Given the description of an element on the screen output the (x, y) to click on. 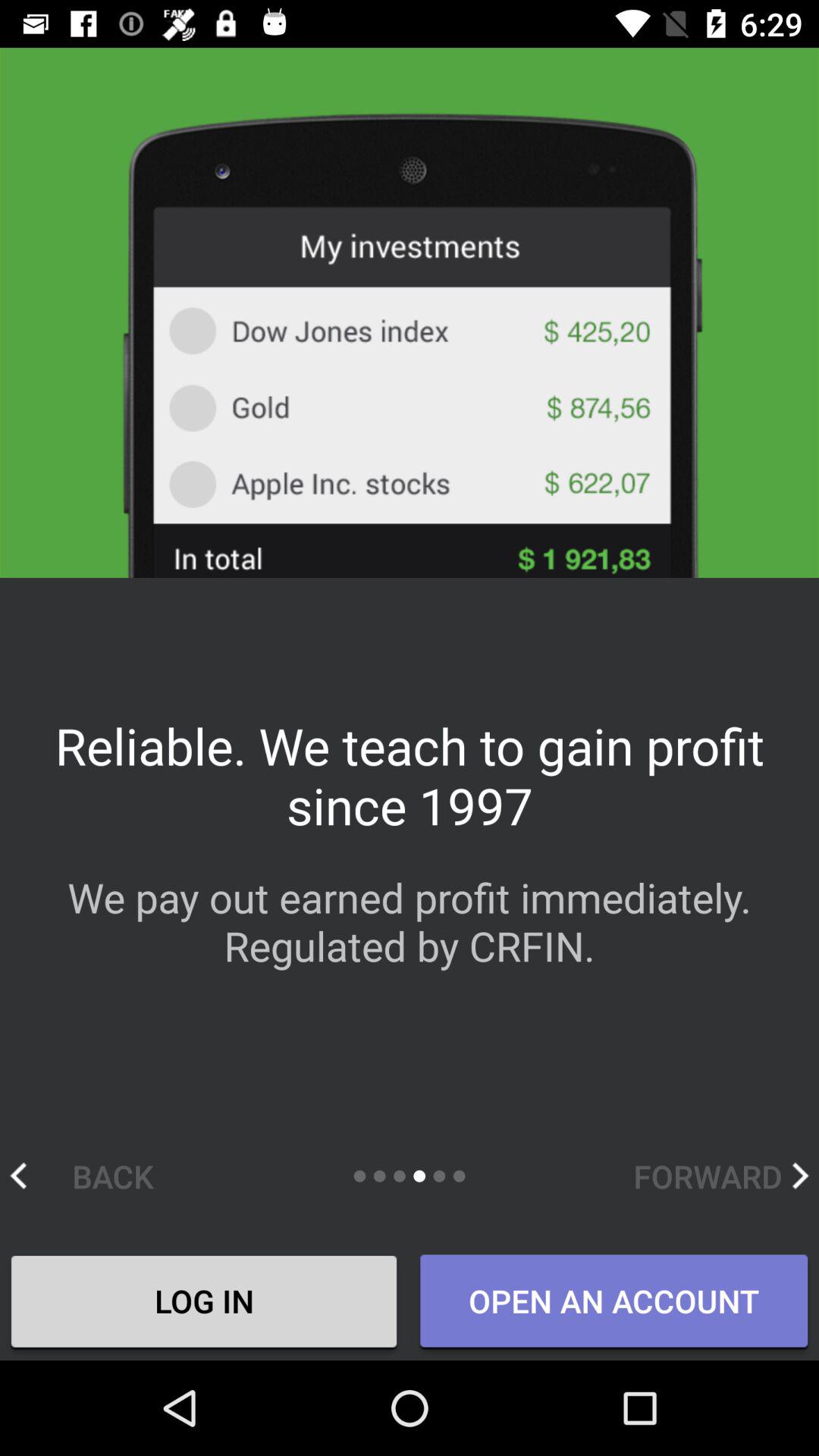
swipe until log in item (204, 1303)
